Given the description of an element on the screen output the (x, y) to click on. 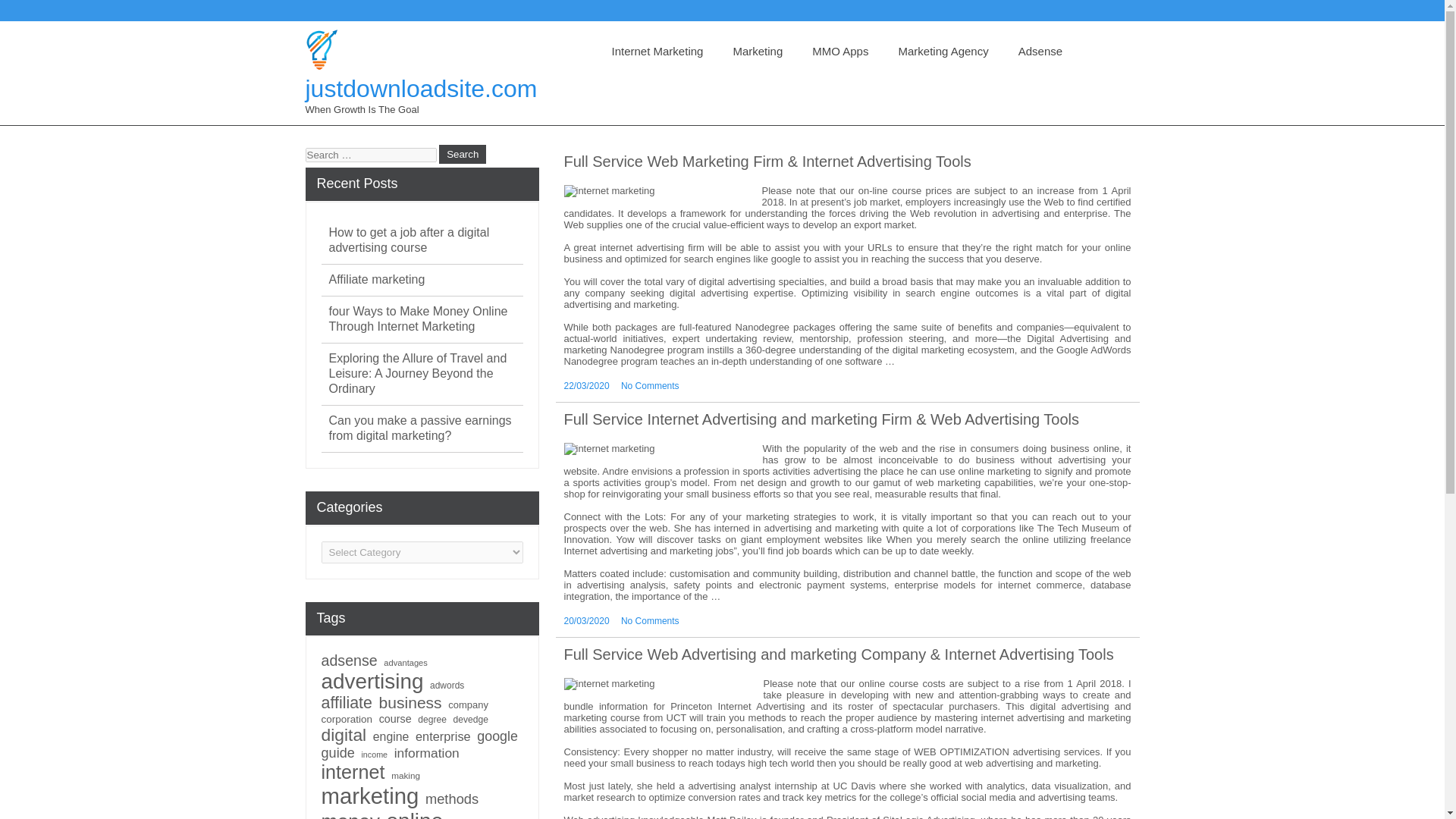
MMO Apps (839, 51)
Adsense (1040, 51)
Search (462, 153)
Marketing Agency (942, 51)
justdownloadsite.com (420, 88)
No Comments (650, 385)
No Comments (650, 620)
Search (462, 153)
Internet Marketing (656, 51)
Marketing (757, 51)
